Given the description of an element on the screen output the (x, y) to click on. 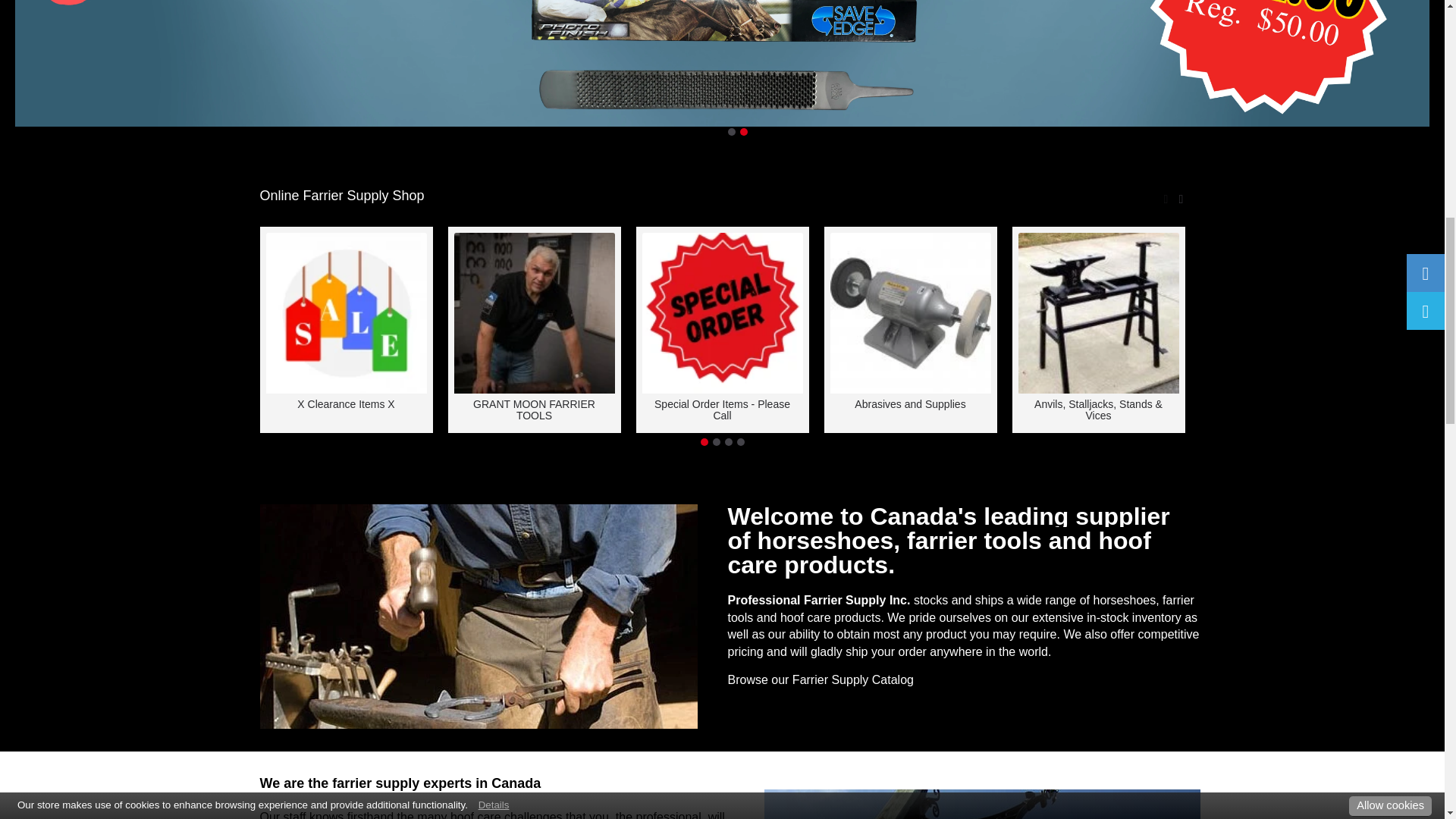
GRANT MOON FARRIER TOOLS  (533, 312)
Abrasives and Supplies (909, 312)
 X Clearance Items X (345, 312)
Special Order Items - Please Call  (722, 312)
